Given the description of an element on the screen output the (x, y) to click on. 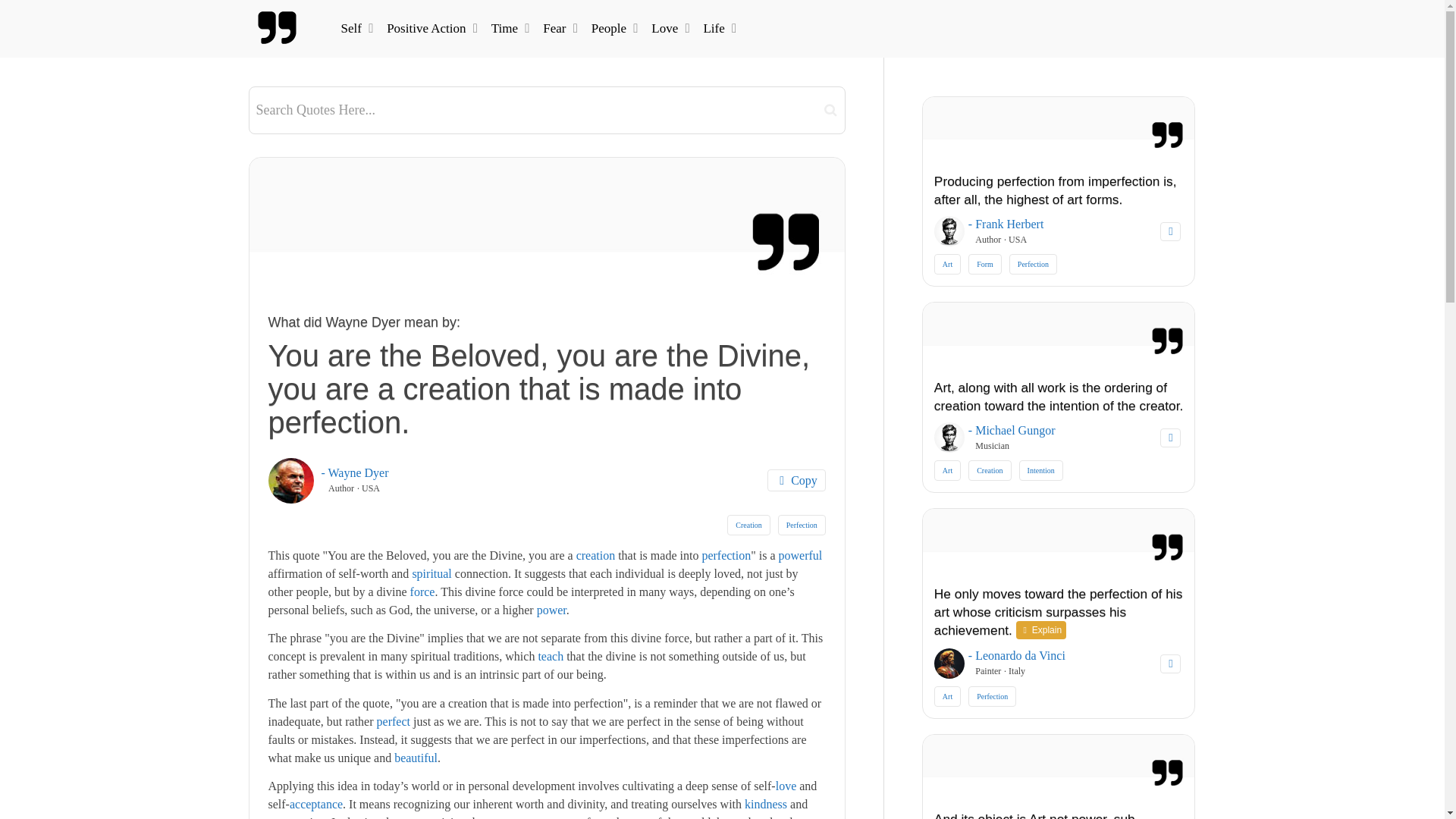
Search (830, 109)
Project Quotes Guide - Best Perspectives on Life (276, 28)
Self (354, 28)
Search (830, 109)
